Given the description of an element on the screen output the (x, y) to click on. 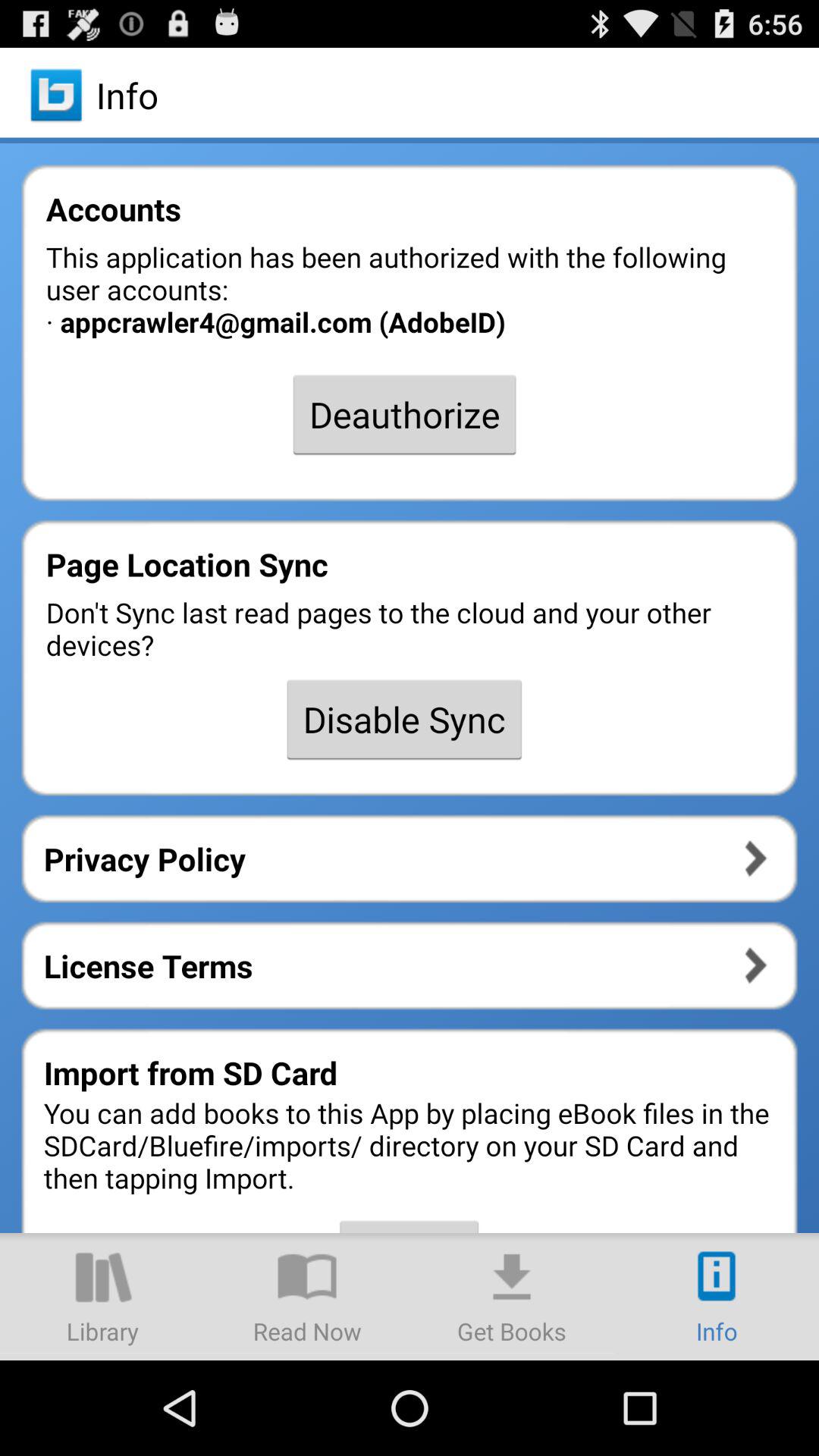
books read for reading (306, 1296)
